Given the description of an element on the screen output the (x, y) to click on. 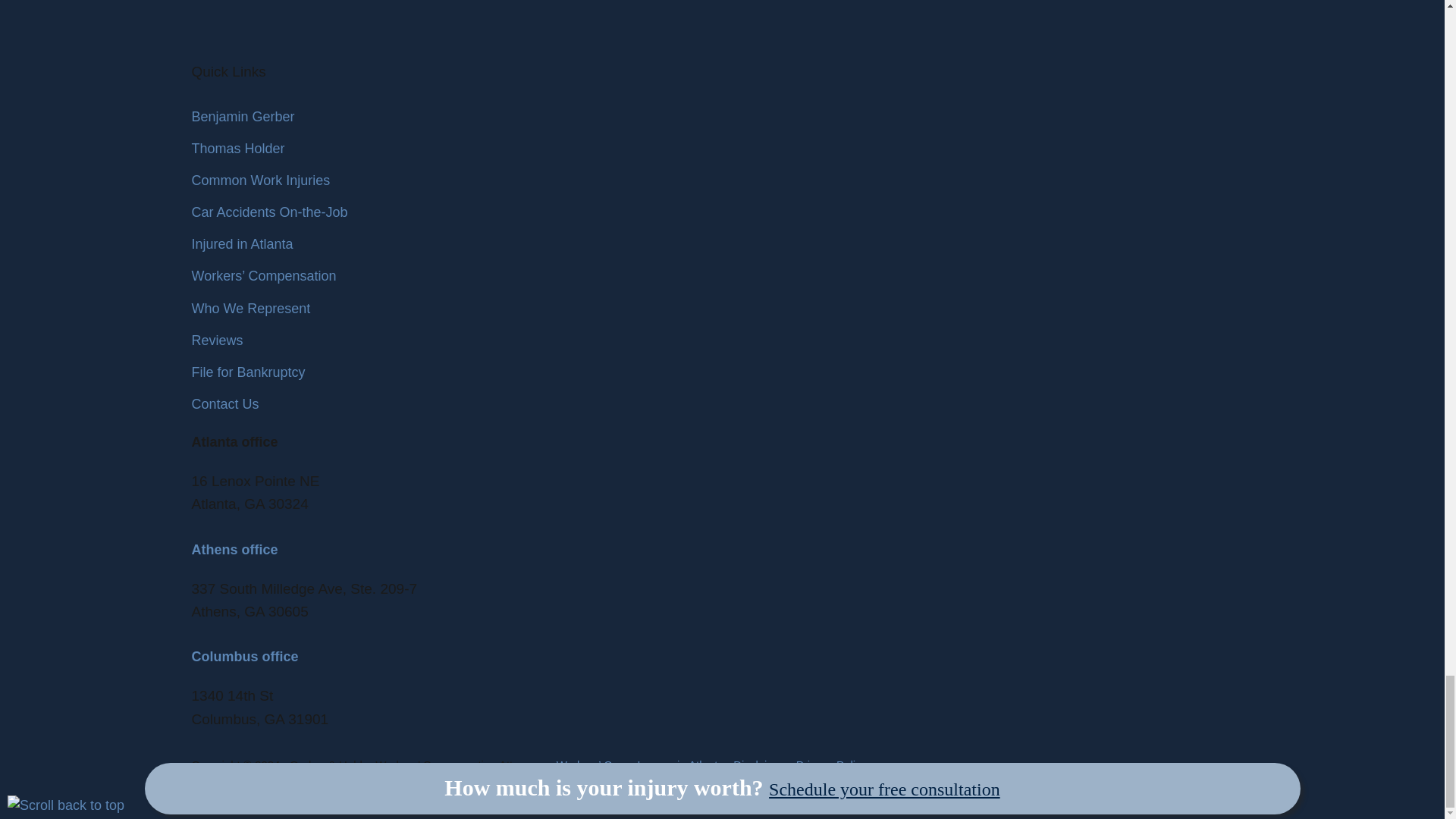
law firm marketing by SEO Advantage, Inc. (335, 784)
